Given the description of an element on the screen output the (x, y) to click on. 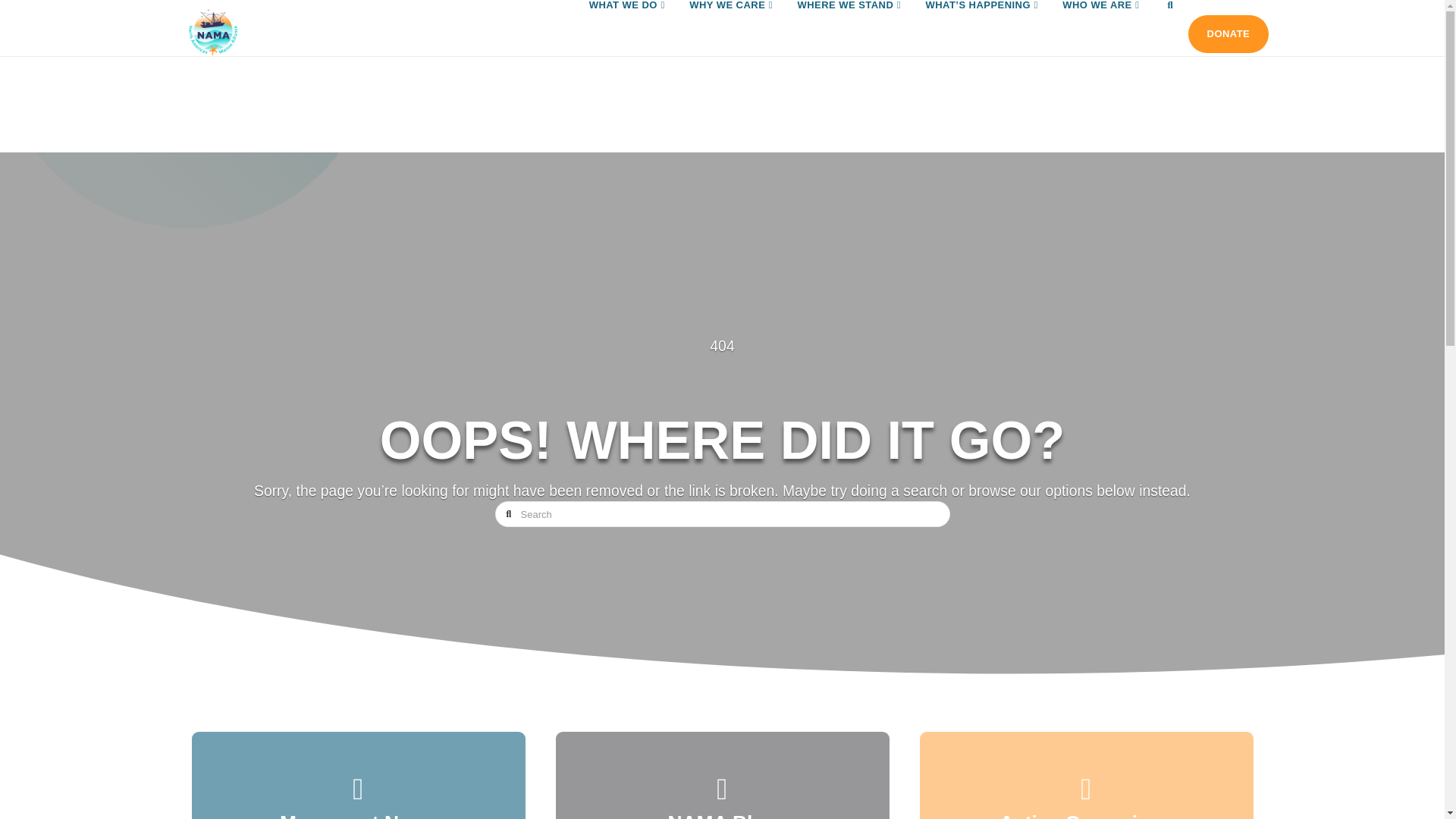
WHAT WE DO (626, 26)
WHY WE CARE (730, 26)
WHO WE ARE (1100, 26)
DONATE (1227, 34)
WHERE WE STAND (848, 26)
